Given the description of an element on the screen output the (x, y) to click on. 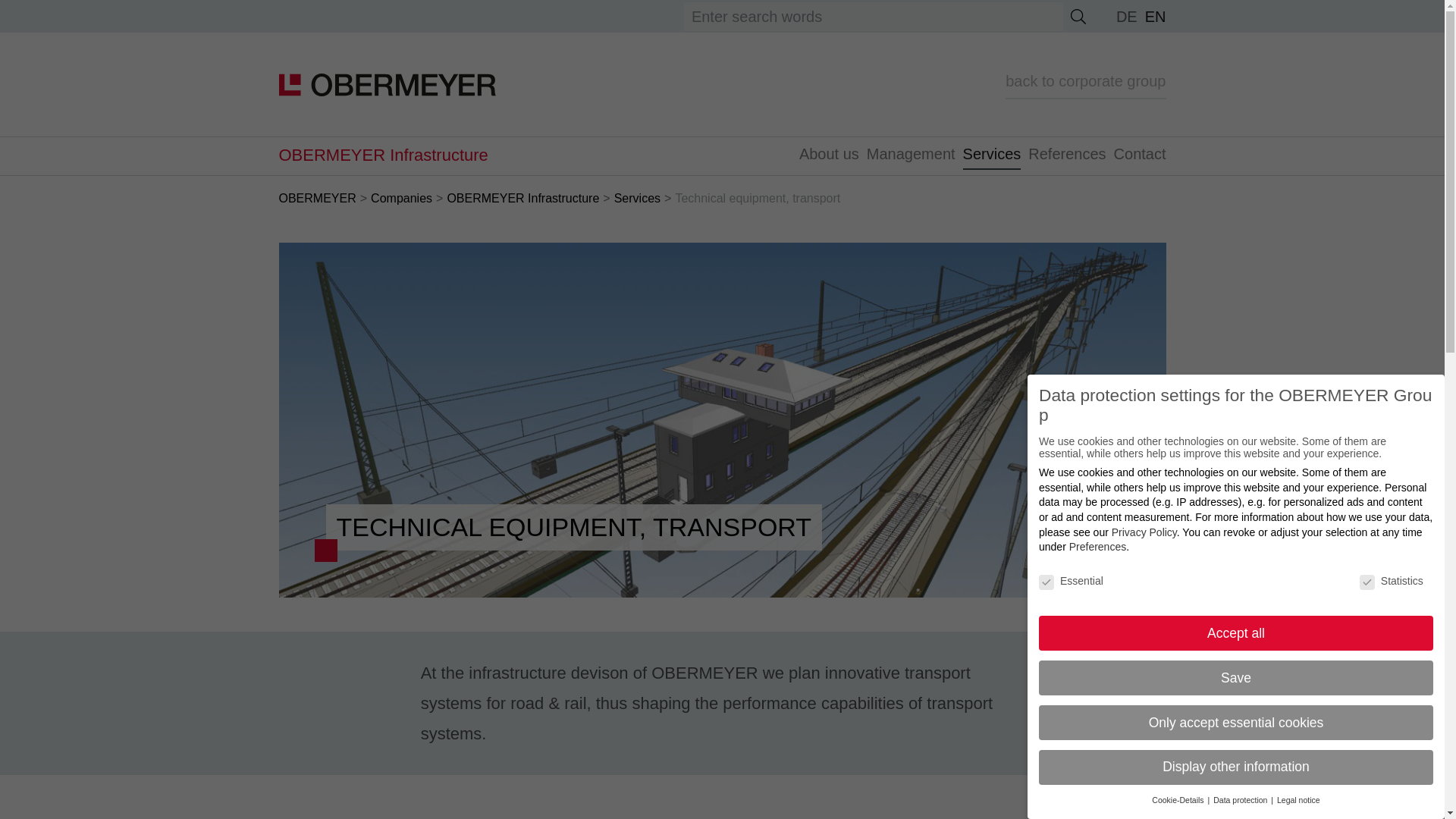
OBERMEYER Infrastructure (522, 197)
Management (911, 155)
Companies (401, 197)
OBERMEYER (317, 197)
Services (992, 155)
About us (828, 155)
Contact (1139, 155)
DE (1126, 16)
EN (1155, 16)
References (1067, 155)
